Given the description of an element on the screen output the (x, y) to click on. 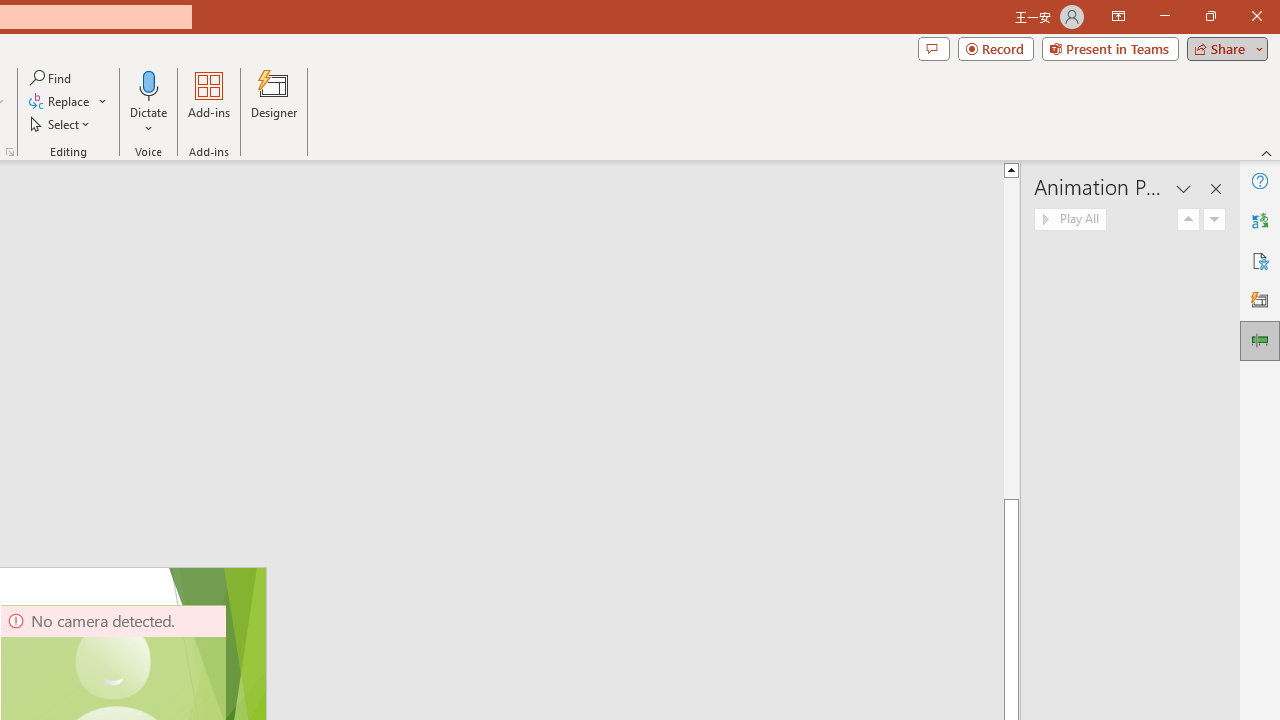
Move Up (1188, 219)
